Given the description of an element on the screen output the (x, y) to click on. 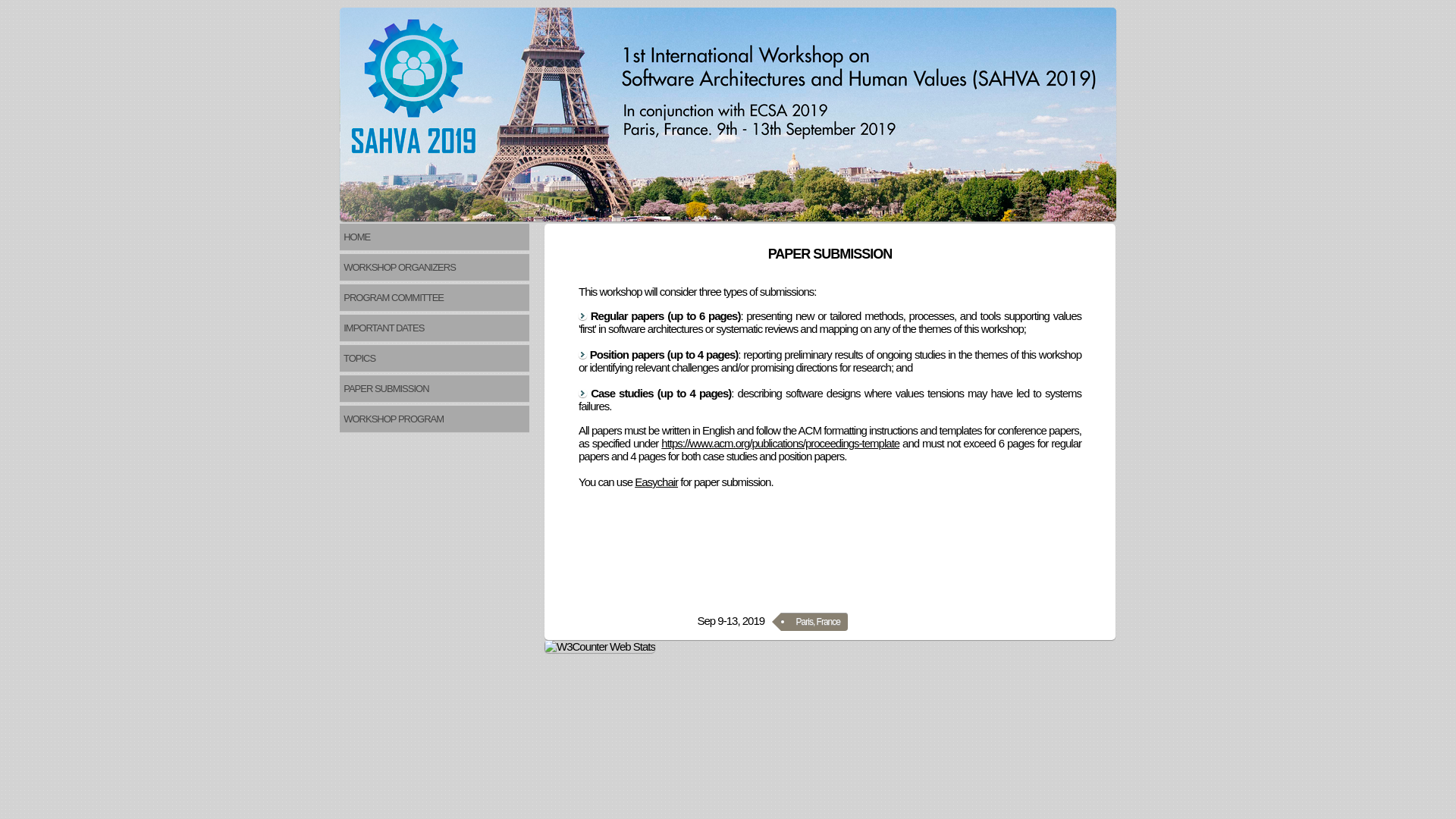
  IMPORTANT DATES Element type: text (434, 327)
  HOME Element type: text (434, 236)
https://www.acm.org/publications/proceedings-template Element type: text (780, 442)
  WORKSHOP PROGRAM Element type: text (434, 418)
  WORKSHOP ORGANIZERS Element type: text (434, 267)
  PROGRAM COMMITTEE Element type: text (434, 297)
Easychair Element type: text (655, 481)
  TOPICS Element type: text (434, 358)
SAHVA 2019 Element type: hover (727, 114)
  PAPER SUBMISSION Element type: text (434, 388)
